Given the description of an element on the screen output the (x, y) to click on. 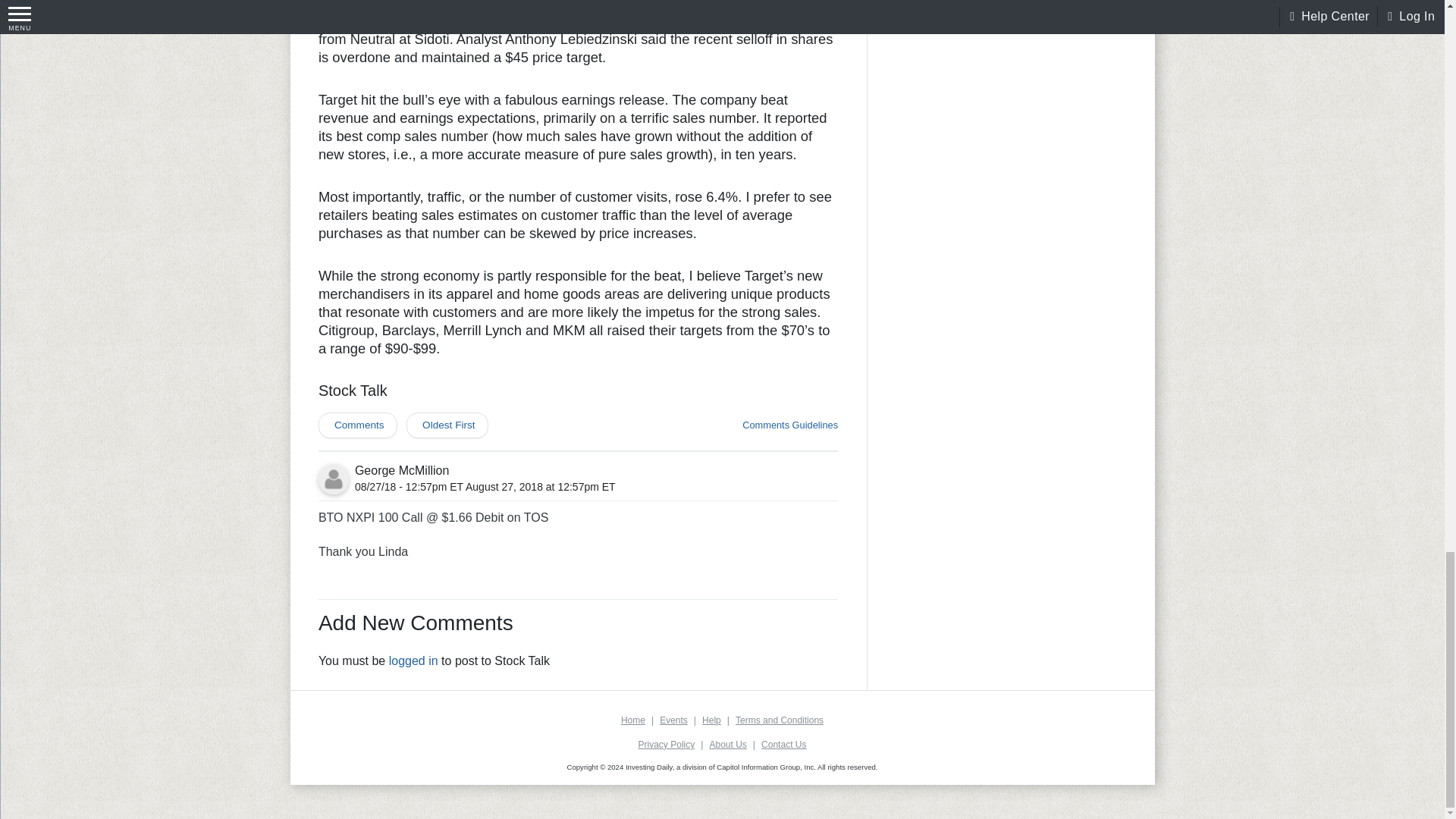
Change the order of comments to newest first (446, 425)
Comments guidelines (790, 425)
Add a new comment (357, 425)
